Given the description of an element on the screen output the (x, y) to click on. 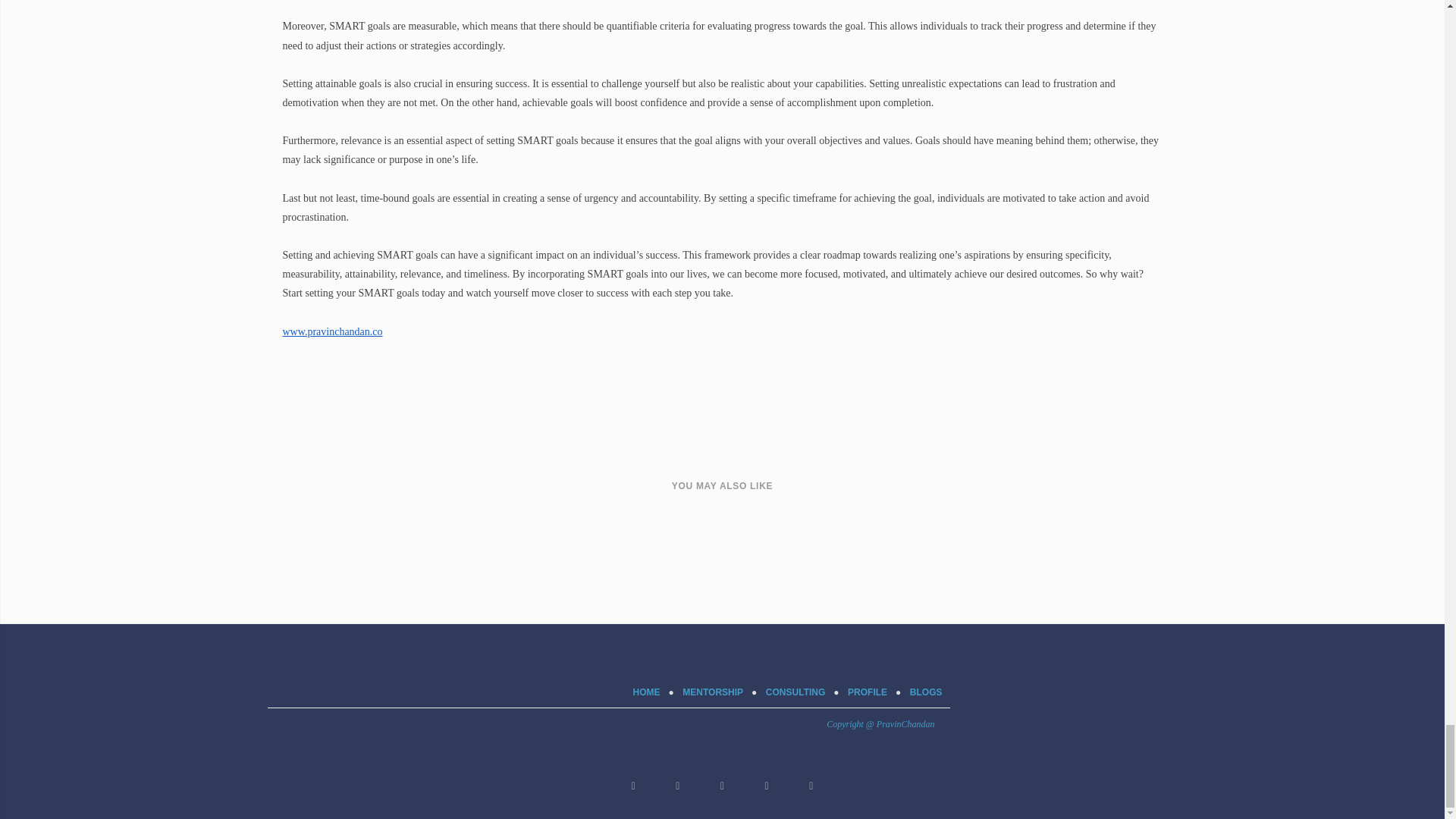
CONSULTING (795, 692)
MENTORSHIP (712, 692)
PROFILE (866, 692)
www.pravinchandan.co (331, 331)
BLOGS (926, 692)
HOME (647, 692)
